Given the description of an element on the screen output the (x, y) to click on. 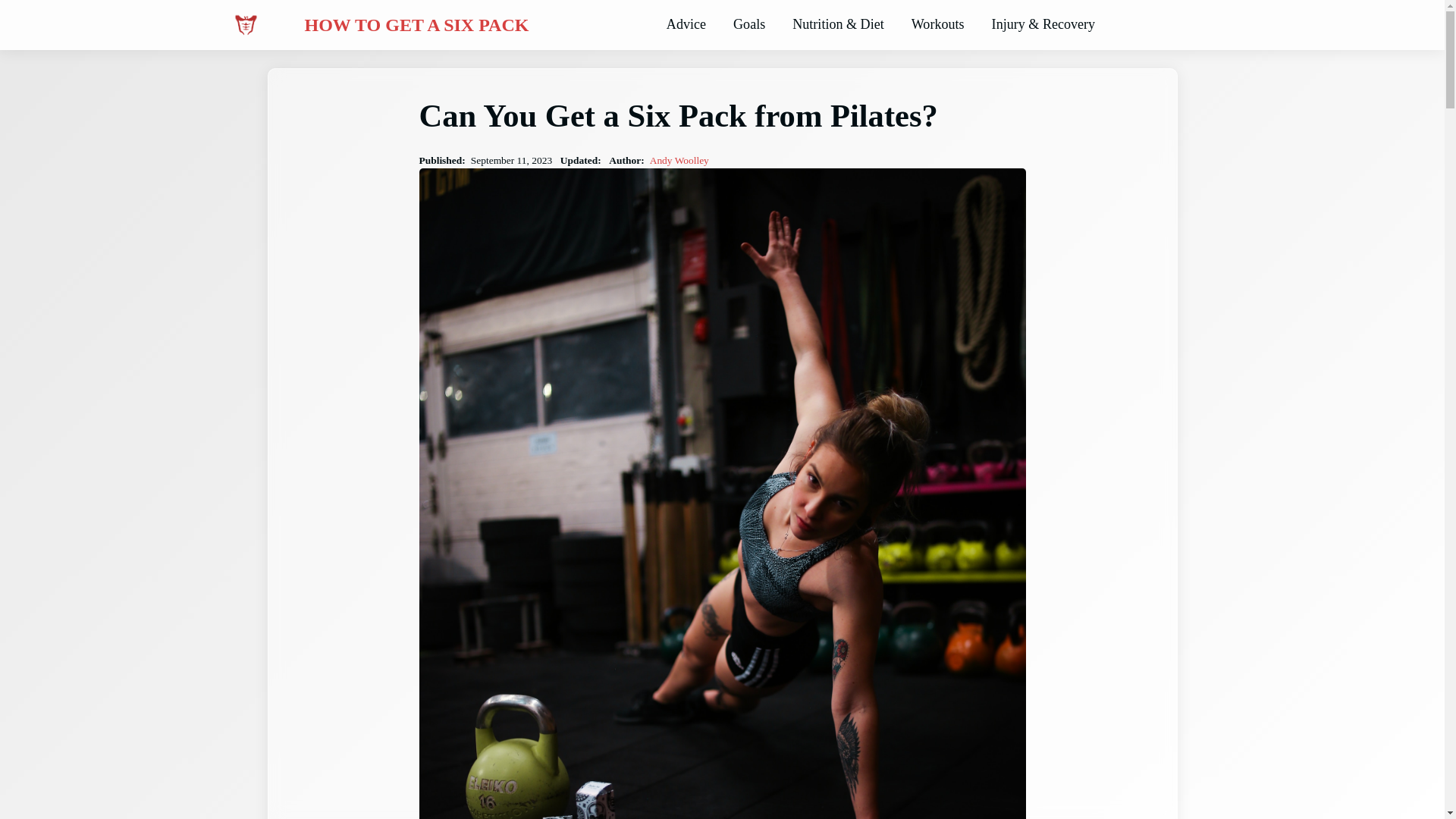
Workouts (937, 24)
Goals (749, 24)
Andy Woolley (679, 160)
HOW TO GET A SIX PACK (416, 25)
Advice (686, 24)
